Given the description of an element on the screen output the (x, y) to click on. 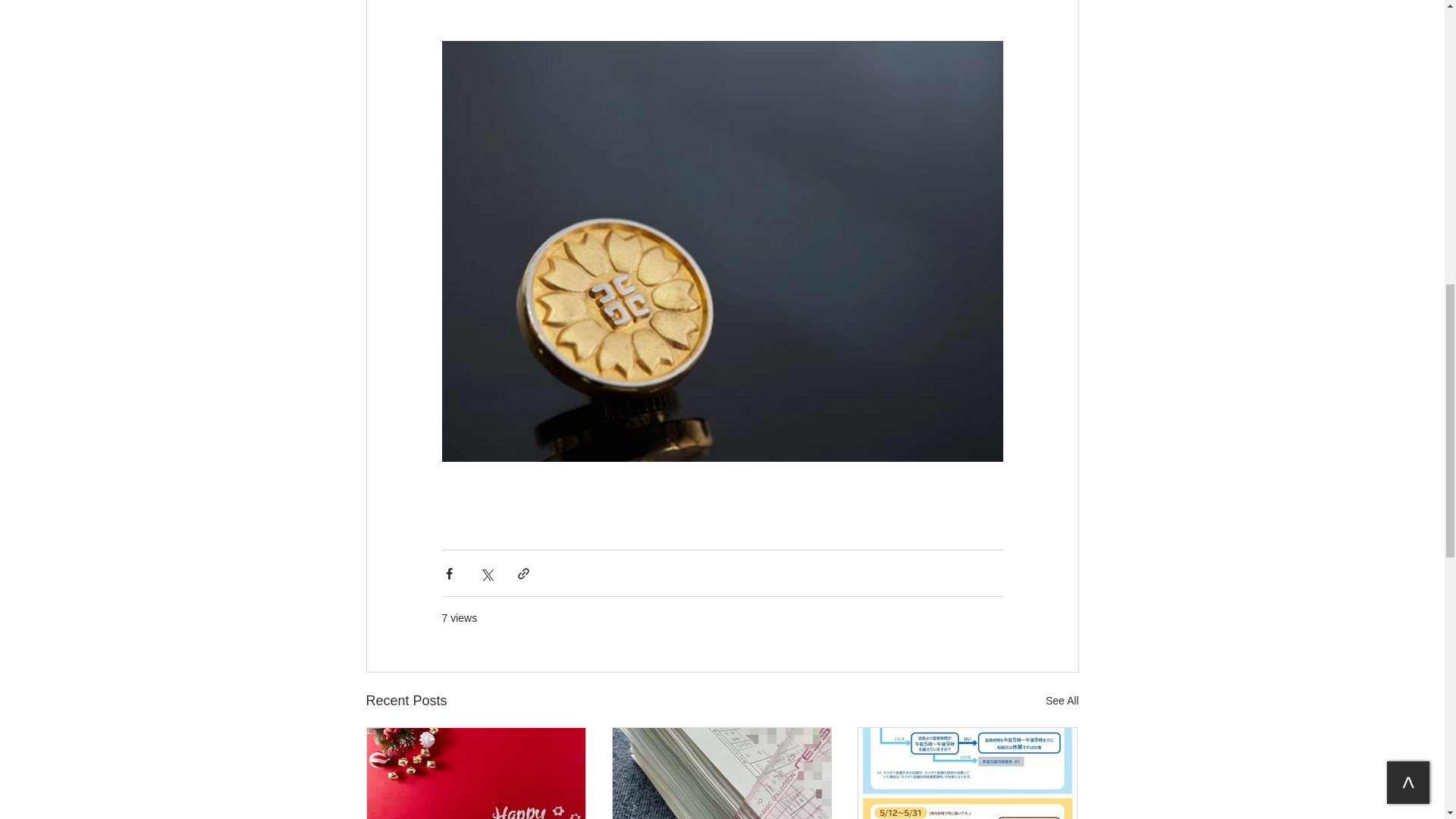
See All (1061, 700)
